Given the description of an element on the screen output the (x, y) to click on. 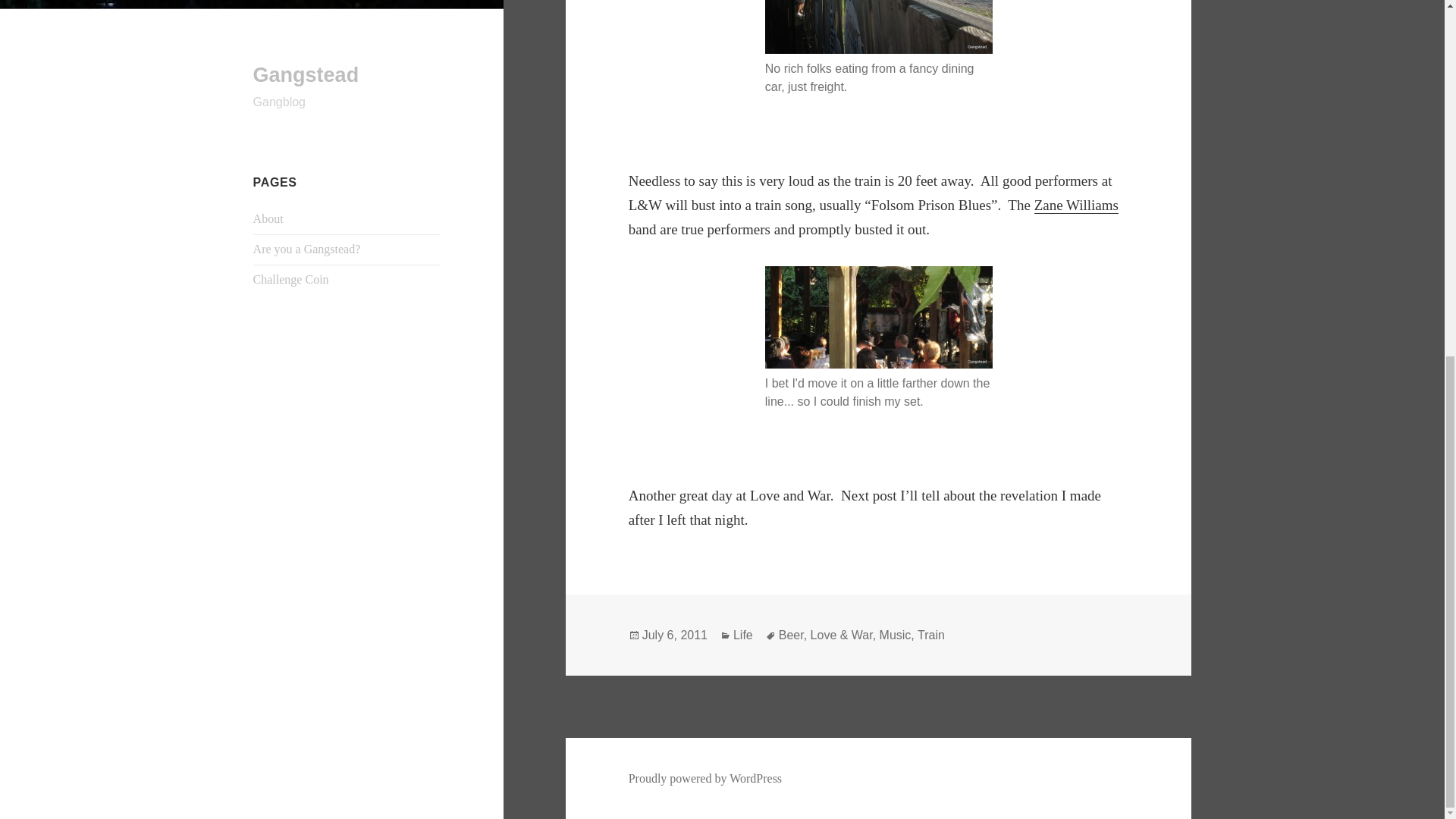
Zane Williams (1075, 205)
Train (930, 635)
Music (895, 635)
Life (742, 635)
Proudly powered by WordPress (704, 778)
Beer (790, 635)
July 6, 2011 (674, 635)
